Given the description of an element on the screen output the (x, y) to click on. 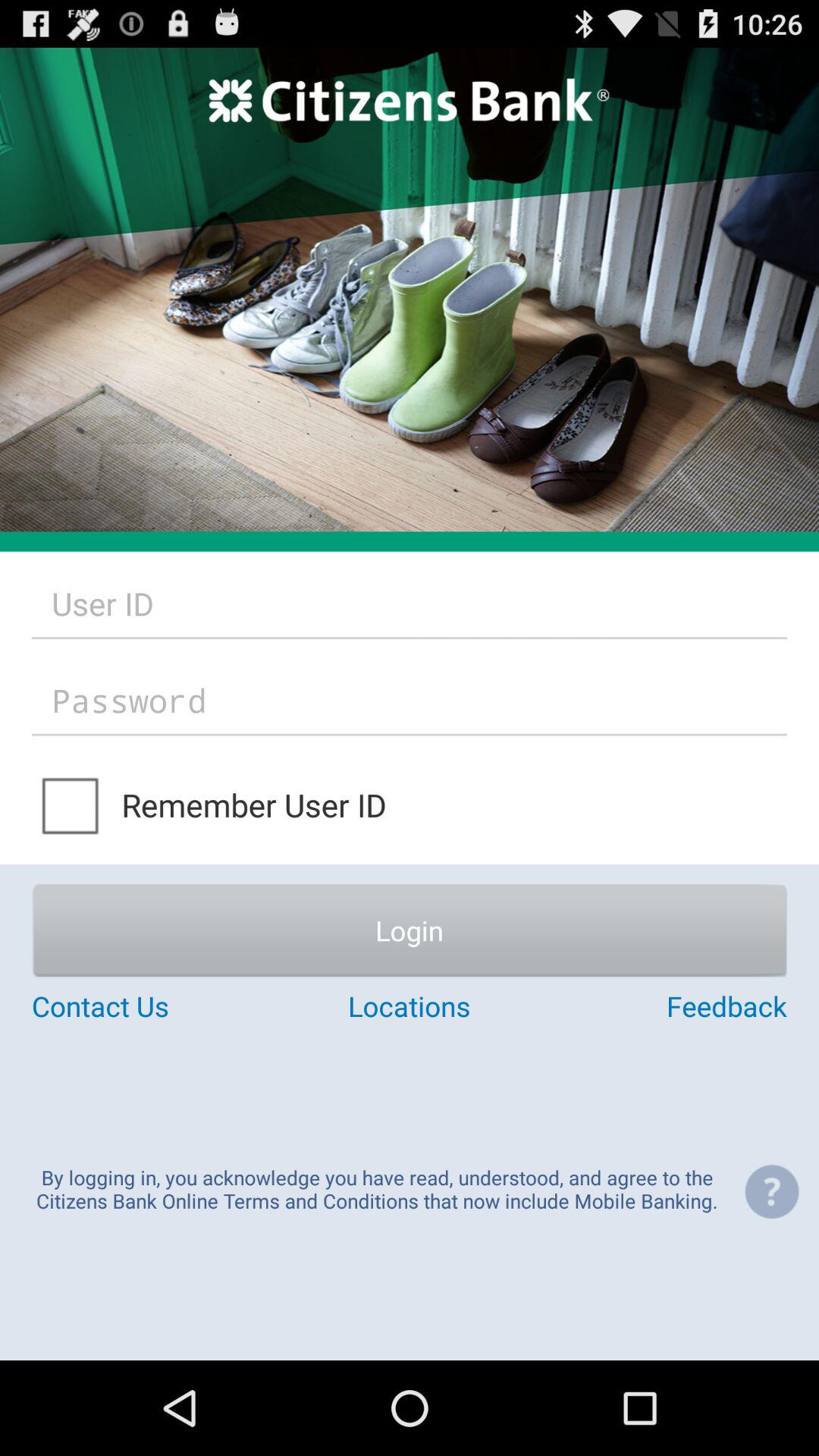
click the item below login icon (157, 1005)
